Given the description of an element on the screen output the (x, y) to click on. 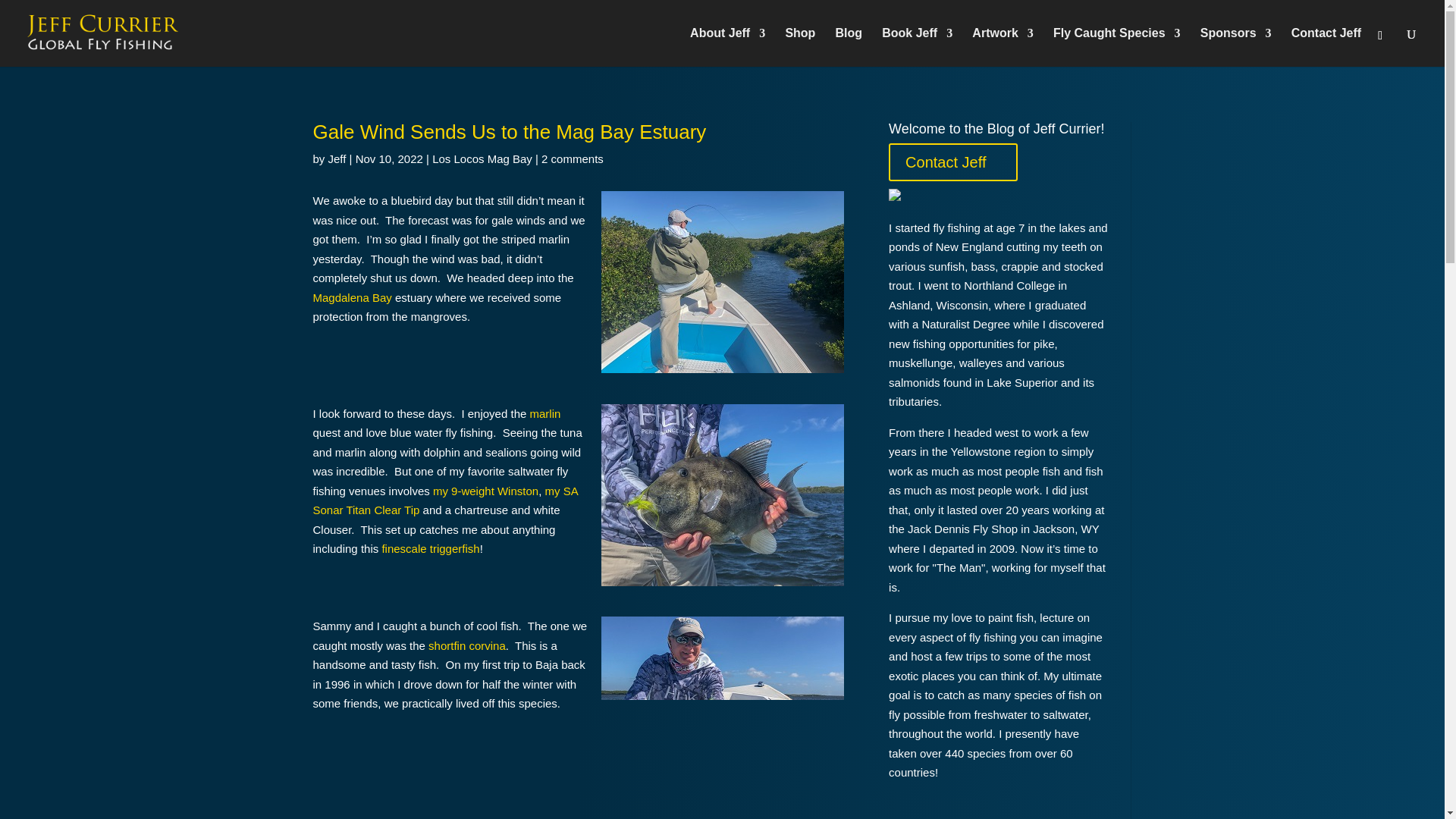
Book Jeff (917, 46)
About Jeff (727, 46)
Posts by Jeff (337, 158)
Artwork (1002, 46)
